Given the description of an element on the screen output the (x, y) to click on. 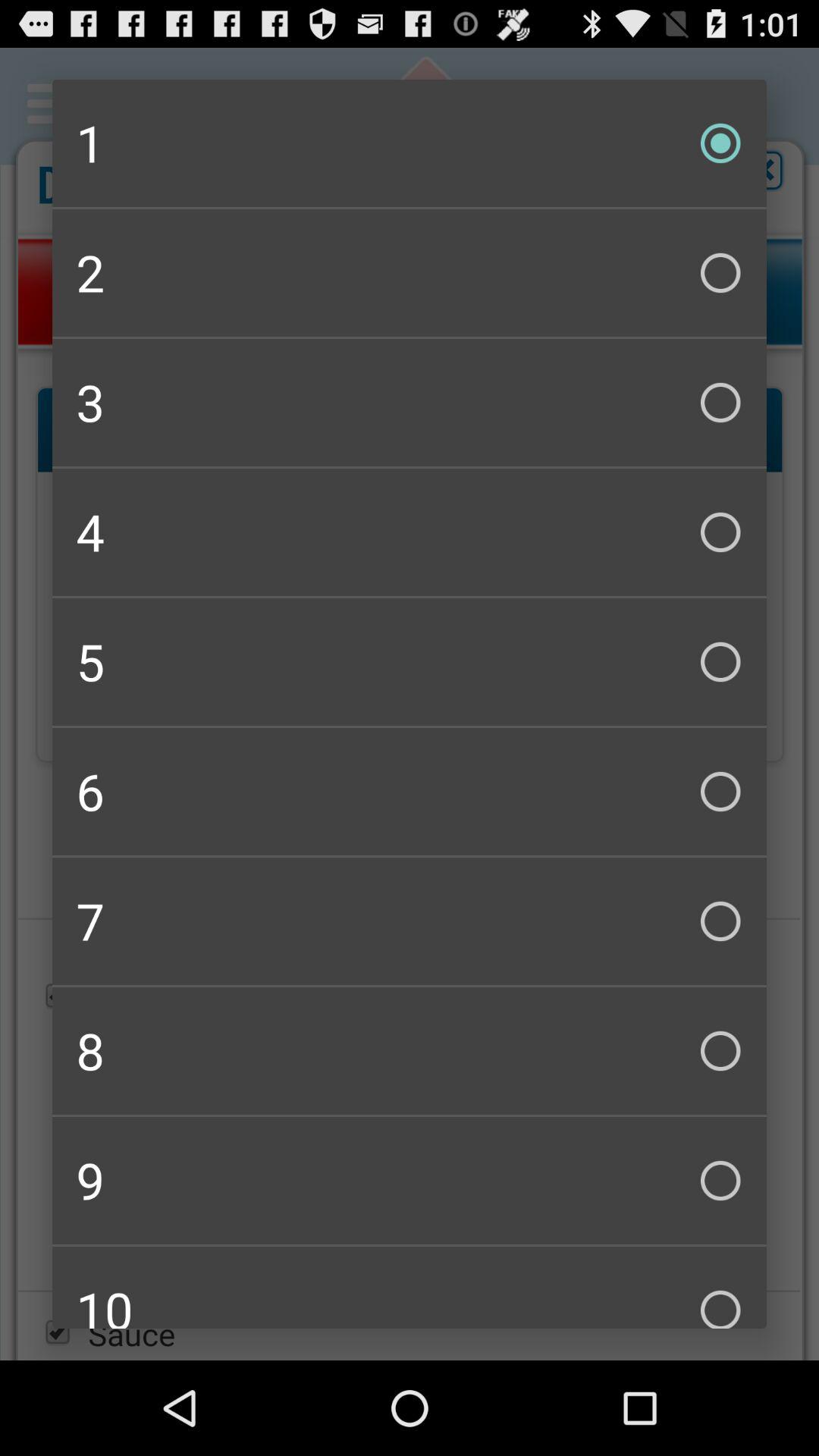
scroll to 5 item (409, 661)
